Given the description of an element on the screen output the (x, y) to click on. 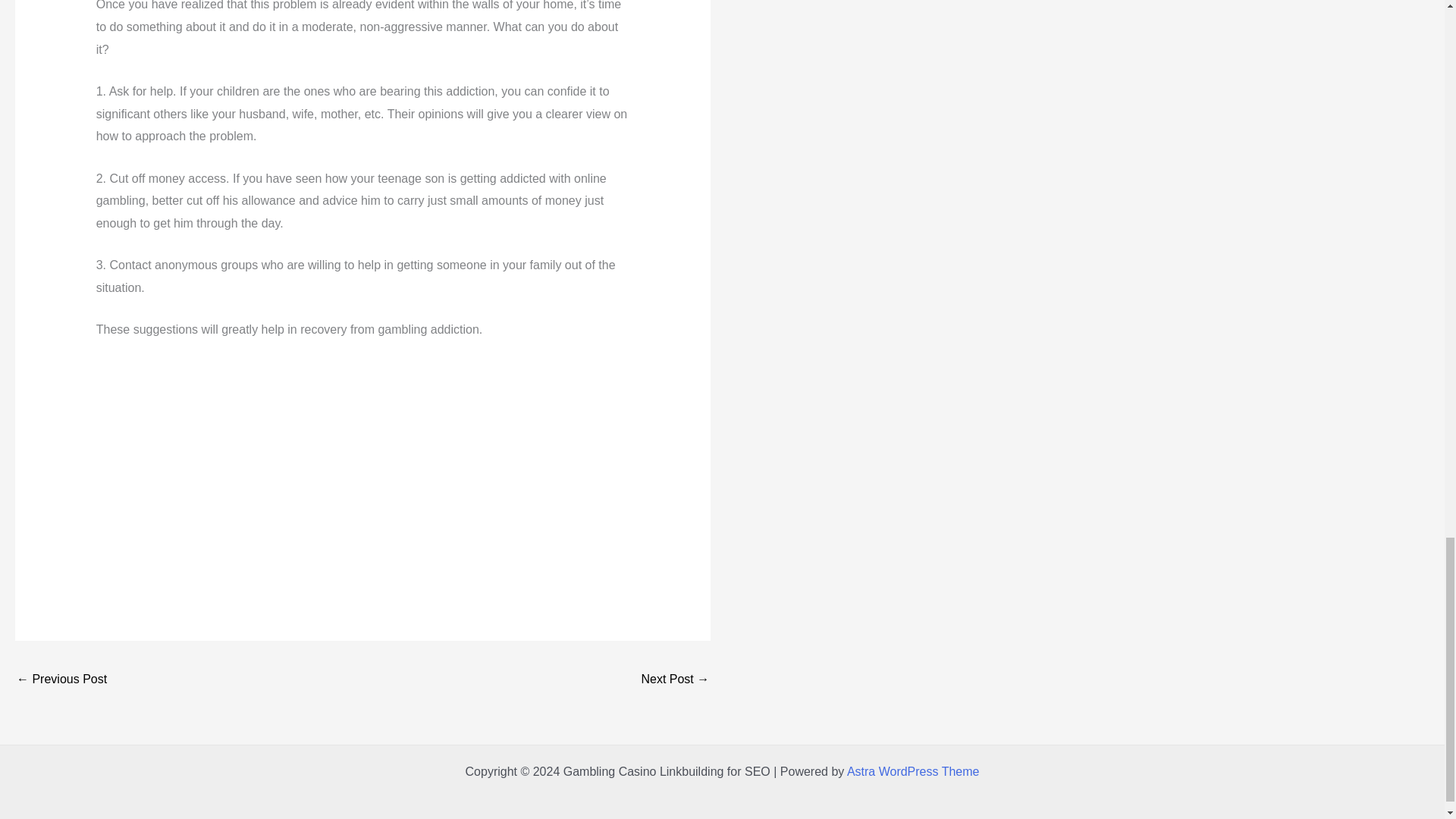
Advertisement (362, 468)
Best Gambling Ebooks (674, 680)
The Anatomy of Online Poker Reviews (61, 680)
Astra WordPress Theme (913, 771)
